Given the description of an element on the screen output the (x, y) to click on. 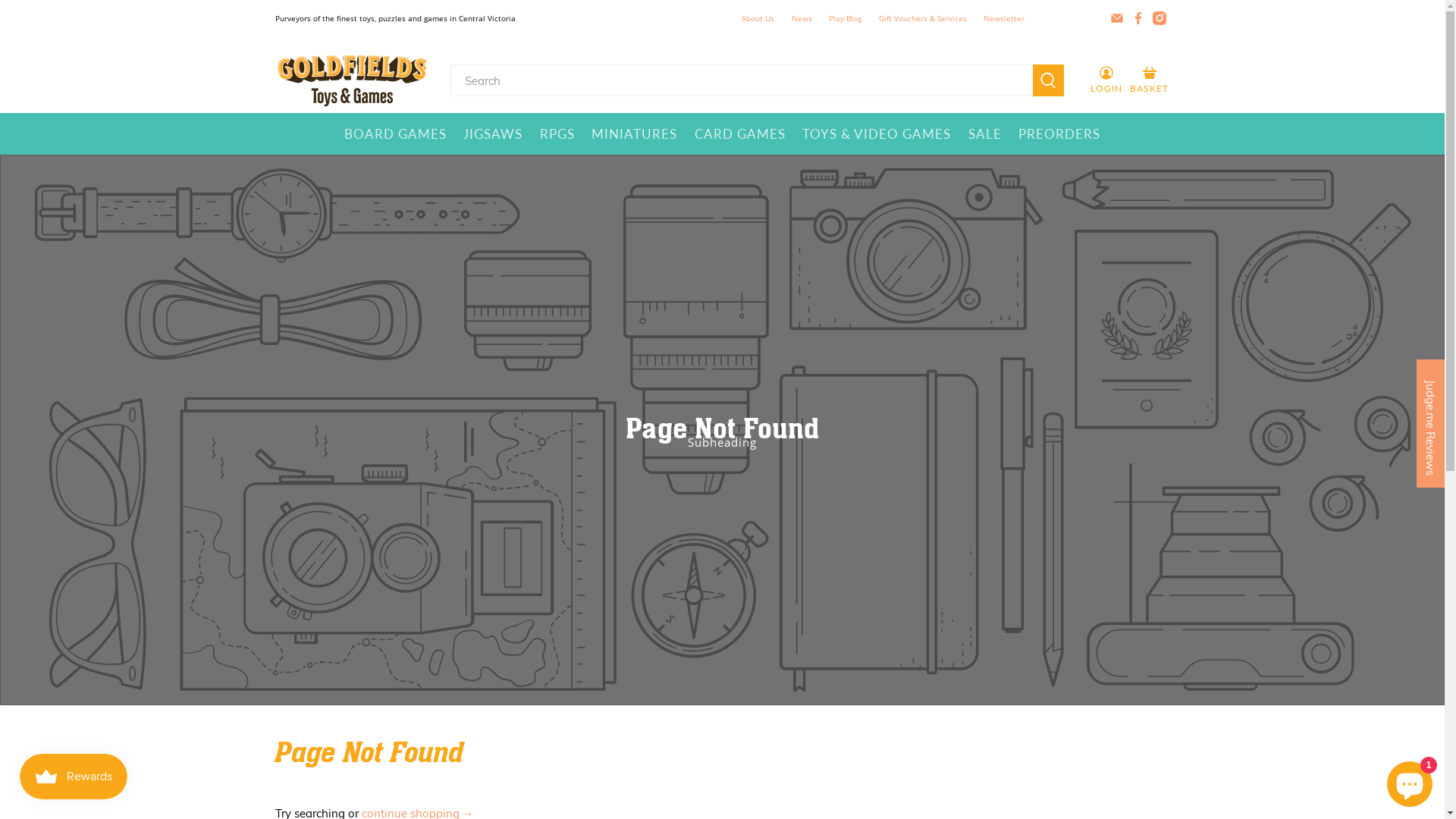
LOGIN Element type: text (1106, 80)
Goldfields Toys & Games on Facebook Element type: hover (1138, 18)
Shopify online store chat Element type: hover (1409, 780)
TOYS & VIDEO GAMES Element type: text (876, 133)
Email Goldfields Toys & Games Element type: hover (1116, 18)
MINIATURES Element type: text (634, 133)
BOARD GAMES Element type: text (395, 133)
Goldfields Toys & Games on Instagram Element type: hover (1159, 18)
CARD GAMES Element type: text (739, 133)
PREORDERS Element type: text (1059, 133)
Newsletter Element type: text (1004, 18)
Smile.io Rewards Program Launcher Element type: hover (73, 776)
Goldfields Toys & Games Element type: hover (351, 79)
About Us Element type: text (758, 18)
News Element type: text (802, 18)
BASKET Element type: text (1148, 80)
RPGS Element type: text (556, 133)
JIGSAWS Element type: text (493, 133)
SALE Element type: text (985, 133)
Gift Vouchers & Services Element type: text (922, 18)
Play Blog Element type: text (845, 18)
